Given the description of an element on the screen output the (x, y) to click on. 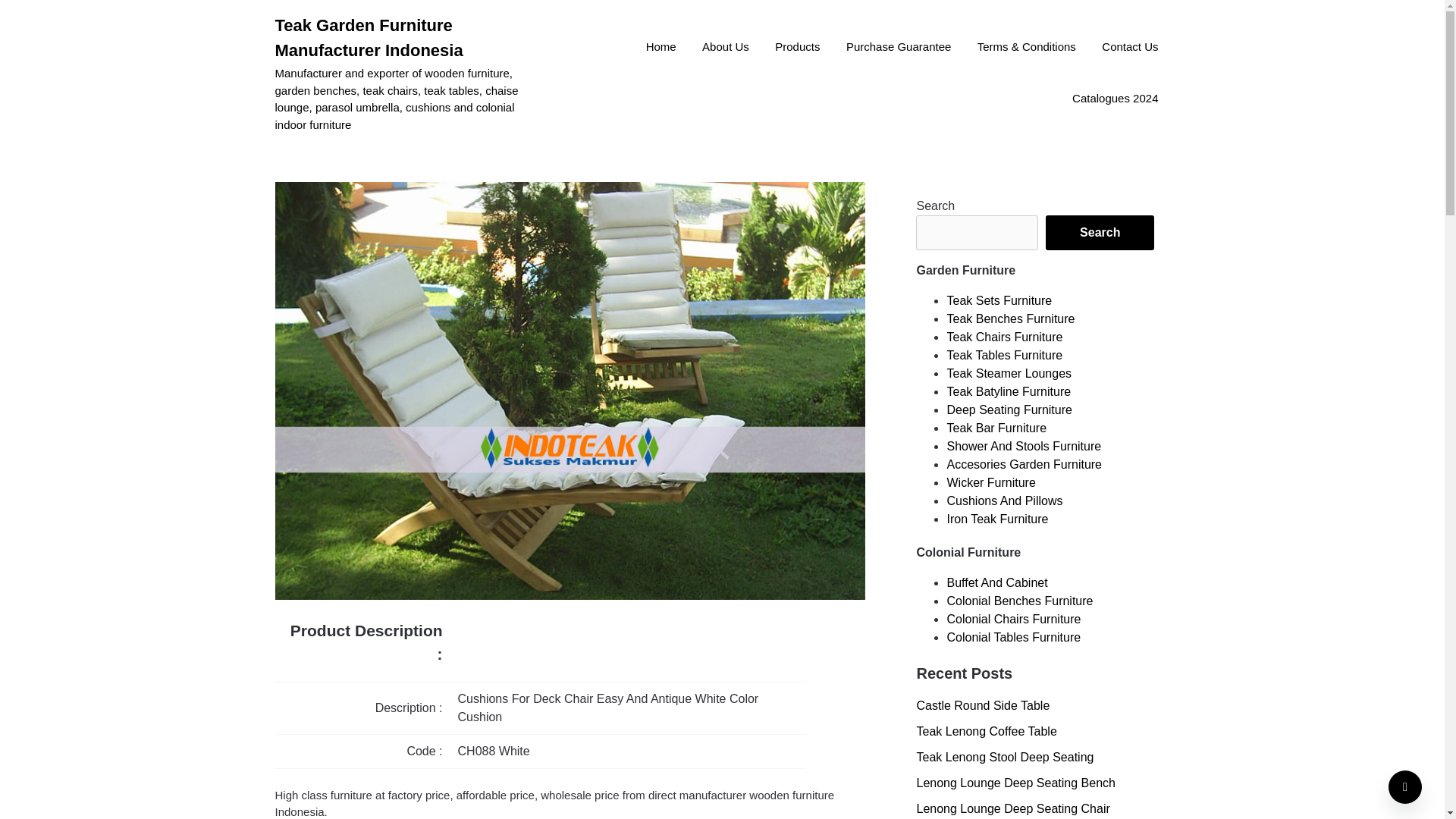
Products (796, 47)
To Top (1405, 786)
Teak Garden Furniture Manufacturer Indonesia (409, 38)
Home (660, 47)
About Us (725, 47)
Catalogues 2024 (1115, 98)
Contact Us (1129, 47)
Purchase Guarantee (898, 47)
